Given the description of an element on the screen output the (x, y) to click on. 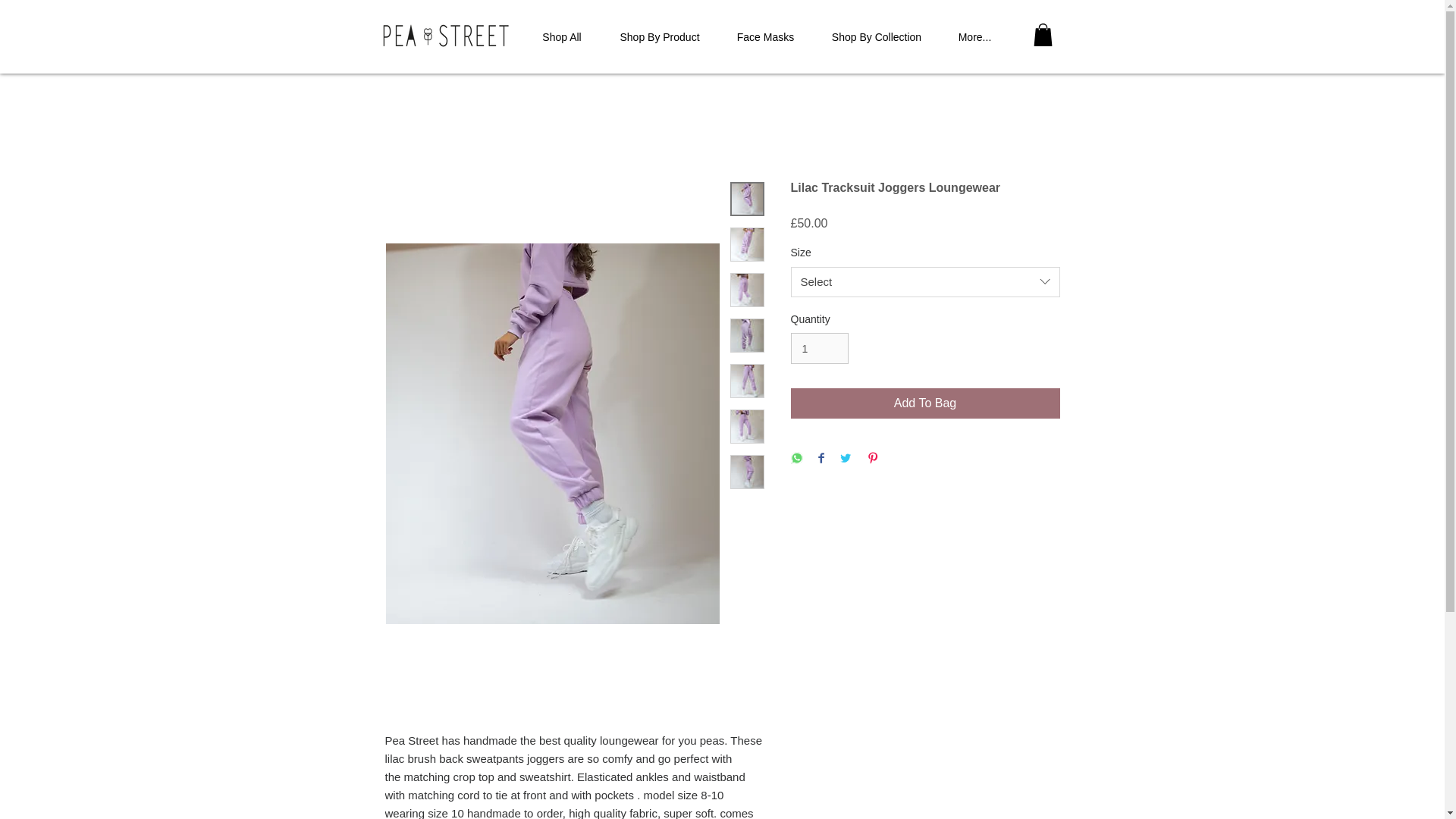
Shop By Product (659, 37)
Shop By Collection (875, 37)
Face Masks (764, 37)
Shop All (560, 37)
1 (818, 347)
logo.png (444, 35)
